Given the description of an element on the screen output the (x, y) to click on. 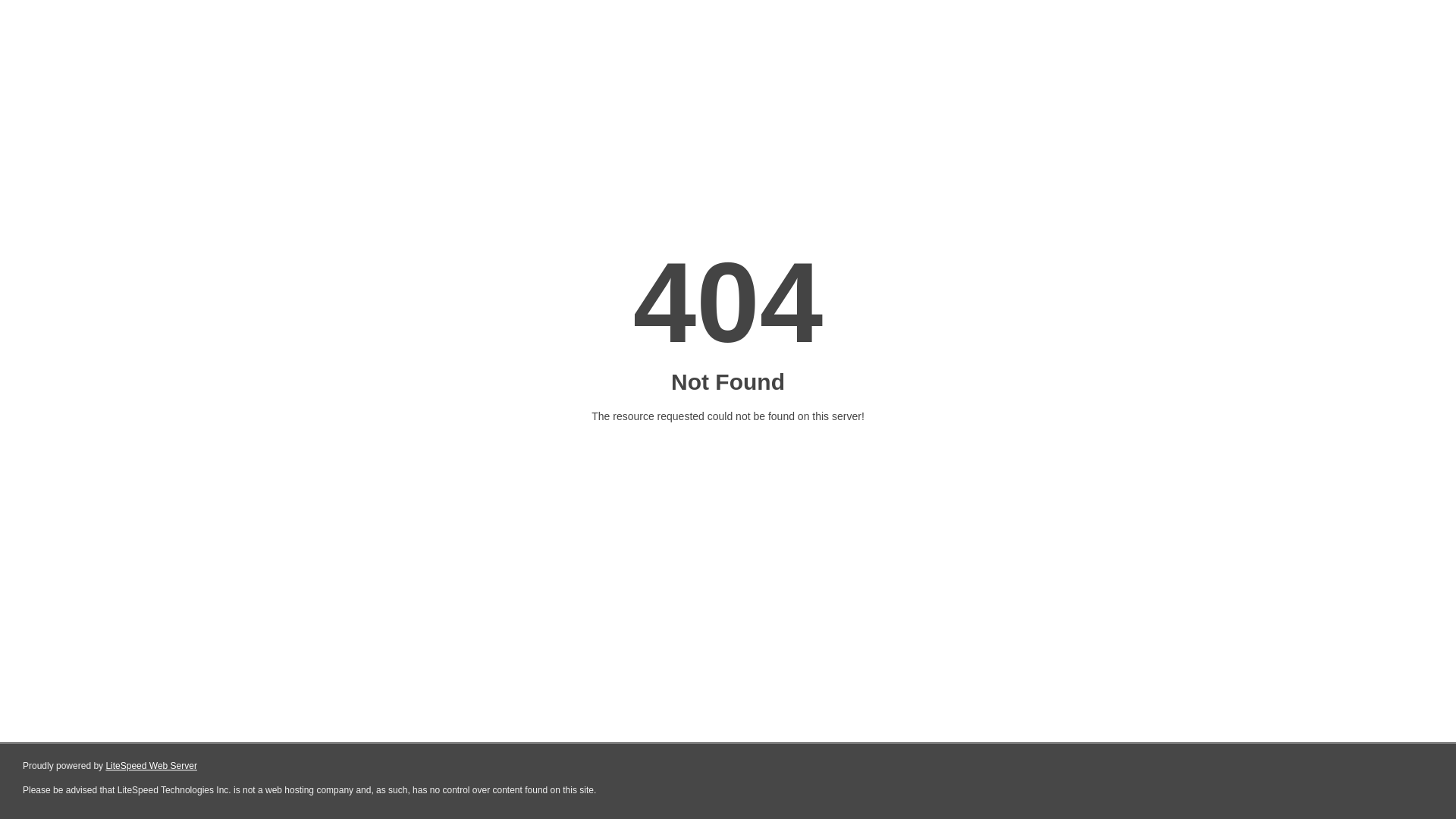
LiteSpeed Web Server Element type: text (151, 765)
